Given the description of an element on the screen output the (x, y) to click on. 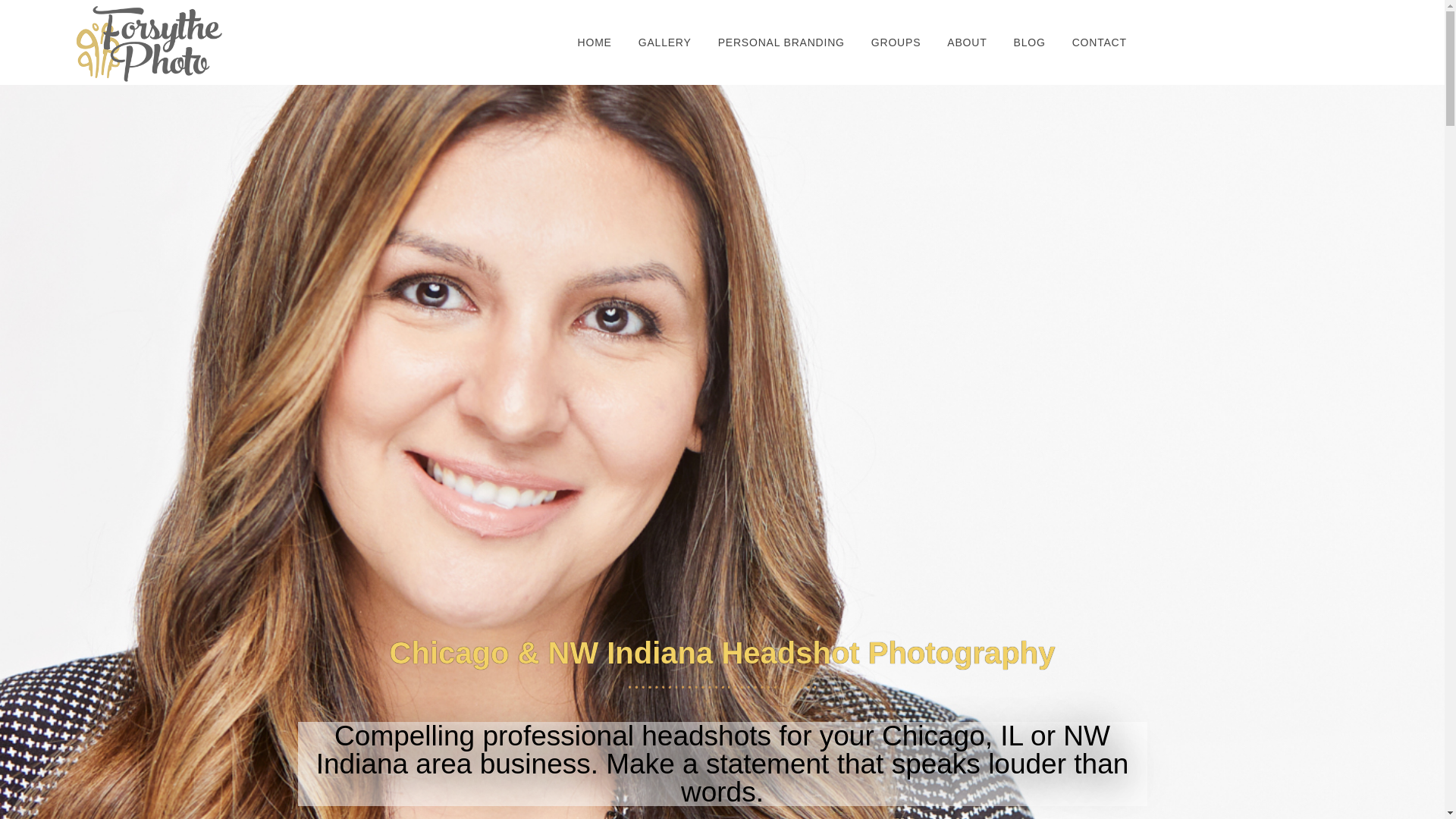
CONTACT (1099, 42)
ABOUT (966, 42)
BLOG (1030, 42)
GALLERY (665, 42)
GROUPS (895, 42)
HOME (594, 42)
PERSONAL BRANDING (781, 42)
